Given the description of an element on the screen output the (x, y) to click on. 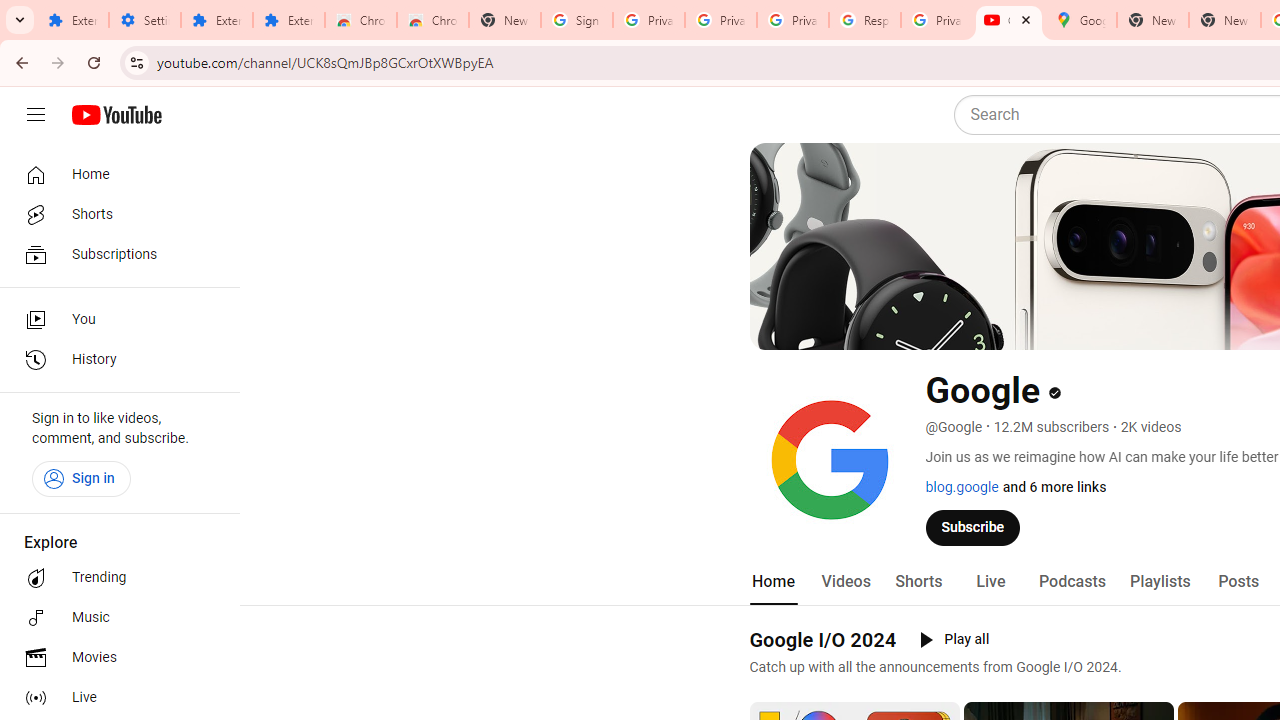
New Tab (504, 20)
Podcasts (1072, 581)
Shorts (918, 581)
History (113, 359)
Settings (144, 20)
Music (113, 617)
Subscriptions (113, 254)
Google I/O 2024 (822, 639)
Home (772, 581)
Playlists (1160, 581)
Live (113, 697)
